Given the description of an element on the screen output the (x, y) to click on. 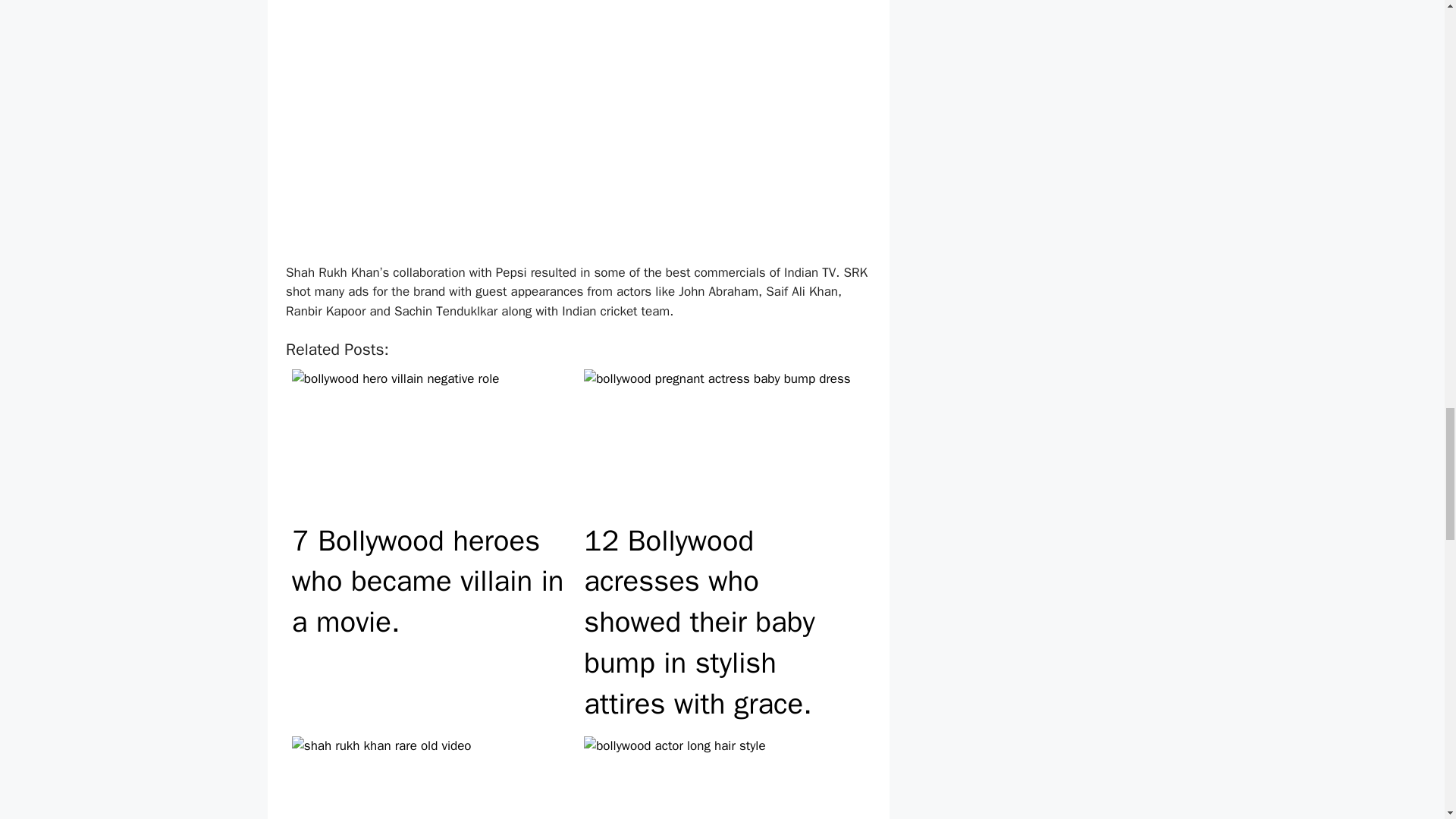
Top 11 Bollywood actors who looked great with long hair. (723, 774)
bollywood actor long hair style (723, 777)
Top 11 Bollywood actors who looked great with long hair. (723, 774)
shah rukh khan rare old video (432, 777)
bollywood hero villain negative role (432, 442)
bollywood pregnant actress baby bump dress (723, 442)
